Given the description of an element on the screen output the (x, y) to click on. 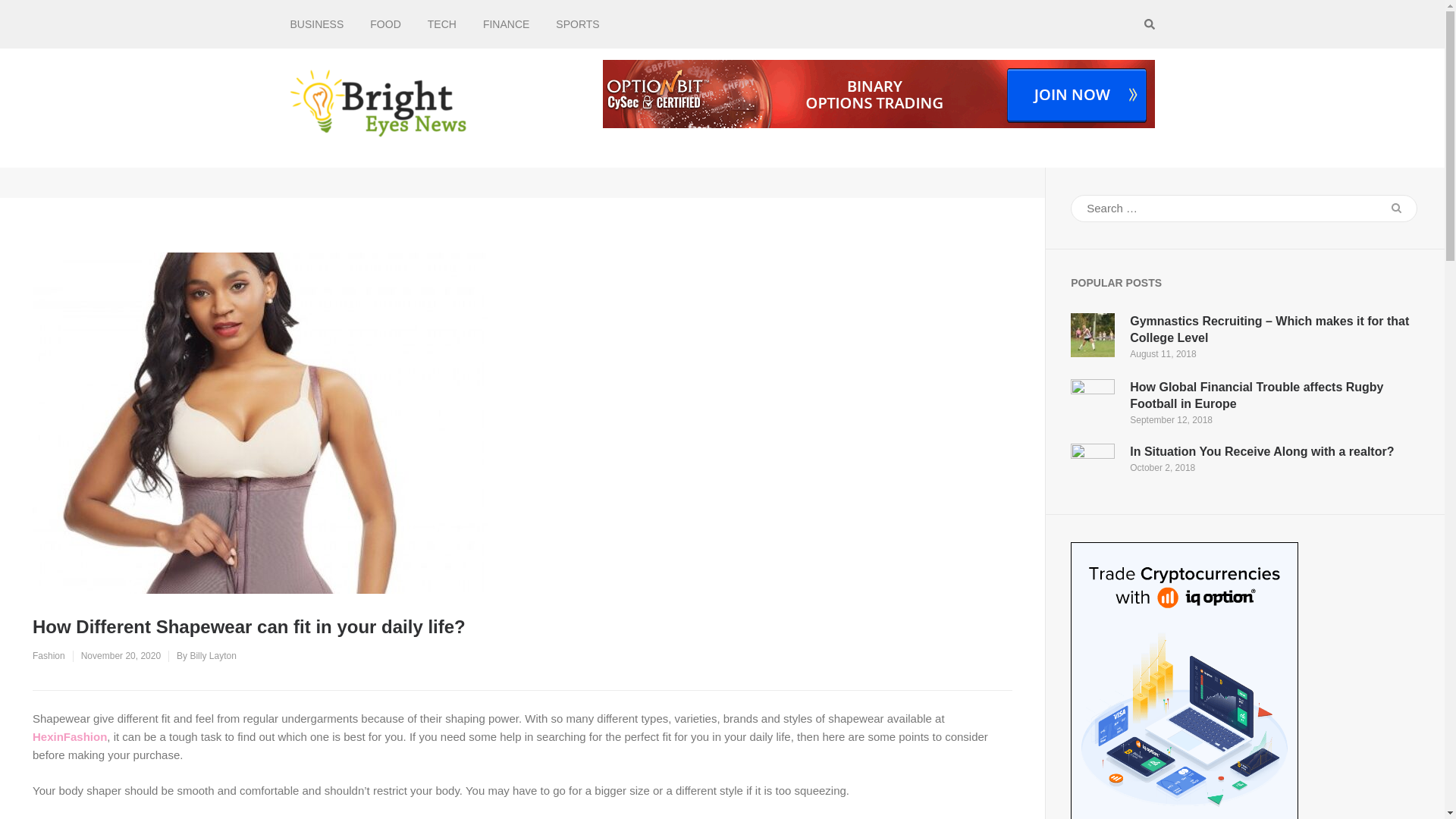
BUSINESS (316, 24)
TECH (442, 24)
Search (1395, 207)
Bright Eyes News (556, 121)
FOOD (384, 24)
Search (1395, 207)
Billy Layton (212, 655)
In Situation You Receive Along with a realtor? (1261, 451)
FINANCE (506, 24)
HexinFashion (69, 736)
August 11, 2018 (1162, 353)
SPORTS (577, 24)
Fashion (48, 655)
October 2, 2018 (1162, 467)
